Given the description of an element on the screen output the (x, y) to click on. 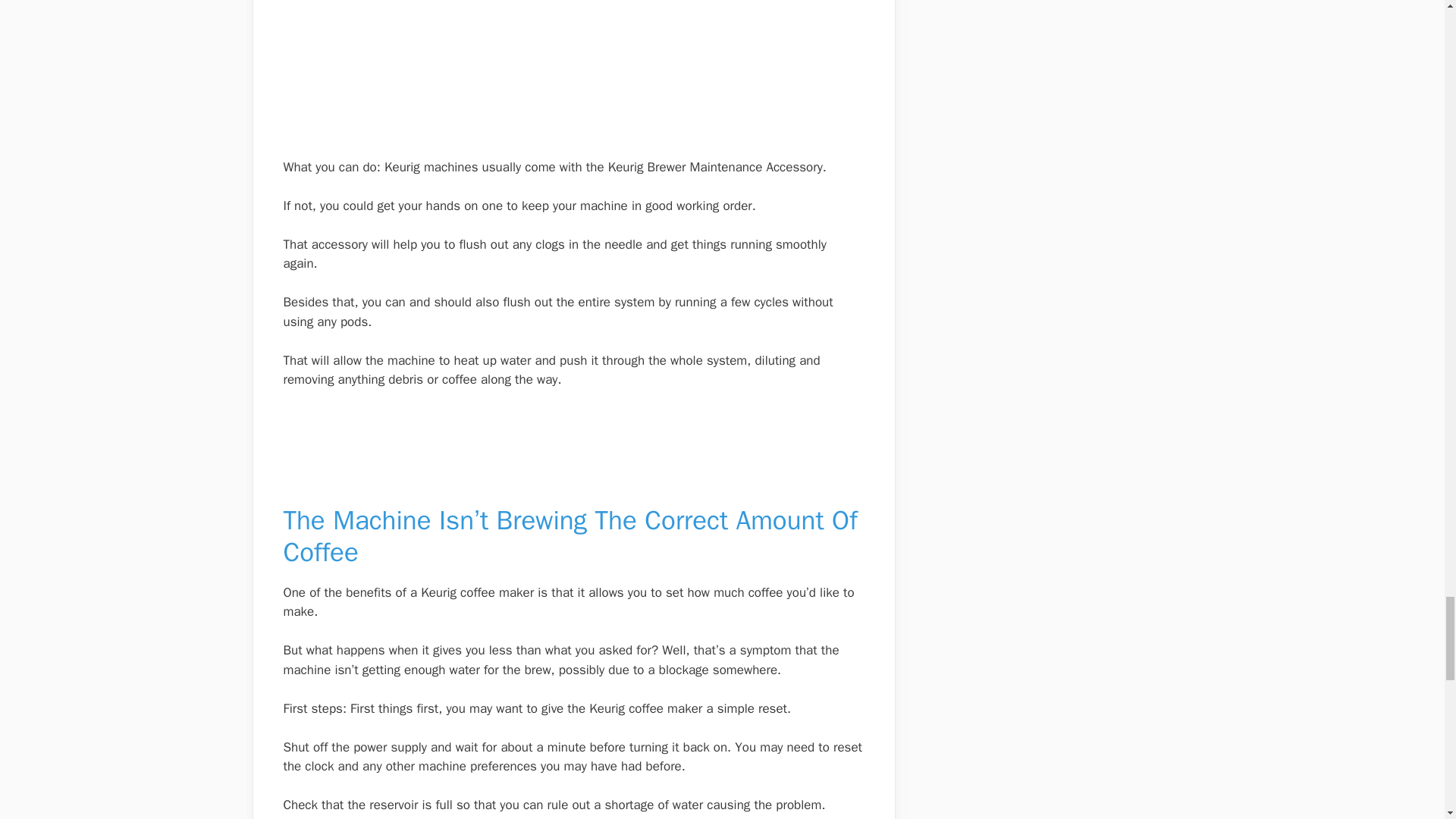
How to Clean Needle and Basket on Keurig 2.0 (573, 69)
